Given the description of an element on the screen output the (x, y) to click on. 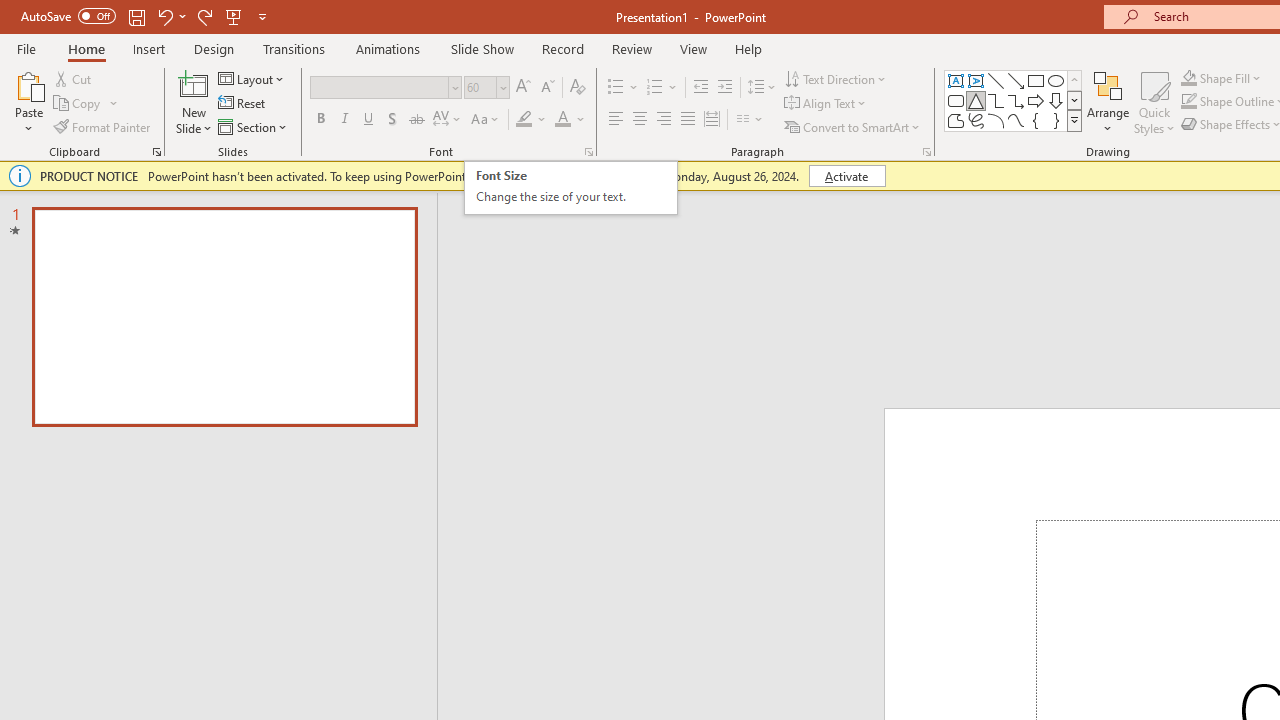
Position (1194, 161)
&View (293, 324)
Text Direction (77, 161)
Less (1121, 204)
Breaks (504, 126)
Line Numbers (532, 161)
Spacing After (1066, 196)
Hyphenation (529, 196)
More (1121, 189)
Paragraph... (1135, 226)
